Given the description of an element on the screen output the (x, y) to click on. 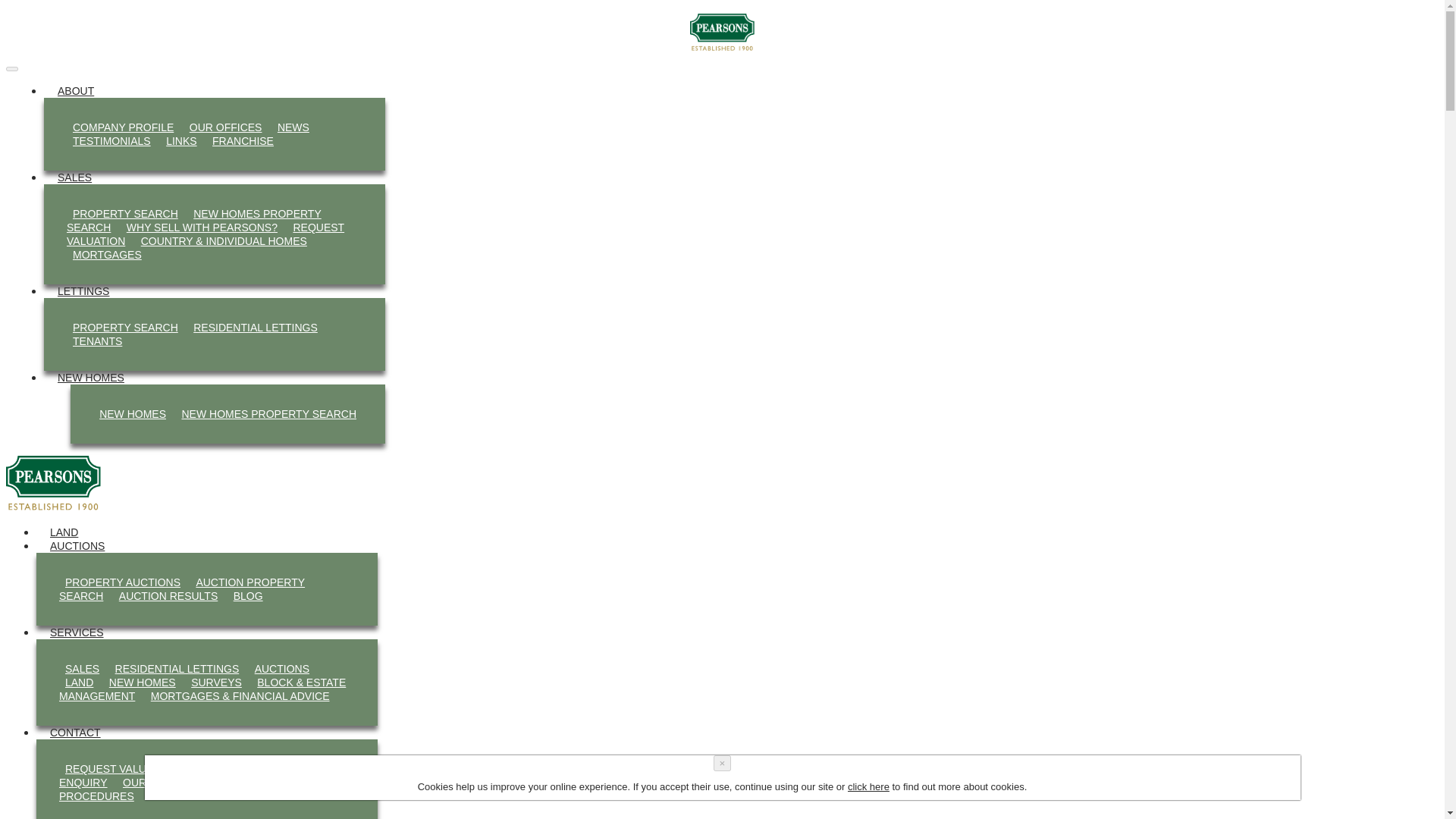
SURVEYS (215, 681)
SALES (81, 668)
TESTIMONIALS (111, 140)
WHY SELL WITH PEARSONS? (201, 227)
AUCTION PROPERTY SEARCH (181, 588)
PROPERTY SEARCH (125, 327)
MORTGAGES (107, 254)
BLOG (248, 595)
NEW HOMES (142, 681)
REQUEST VALUATION (204, 234)
